Given the description of an element on the screen output the (x, y) to click on. 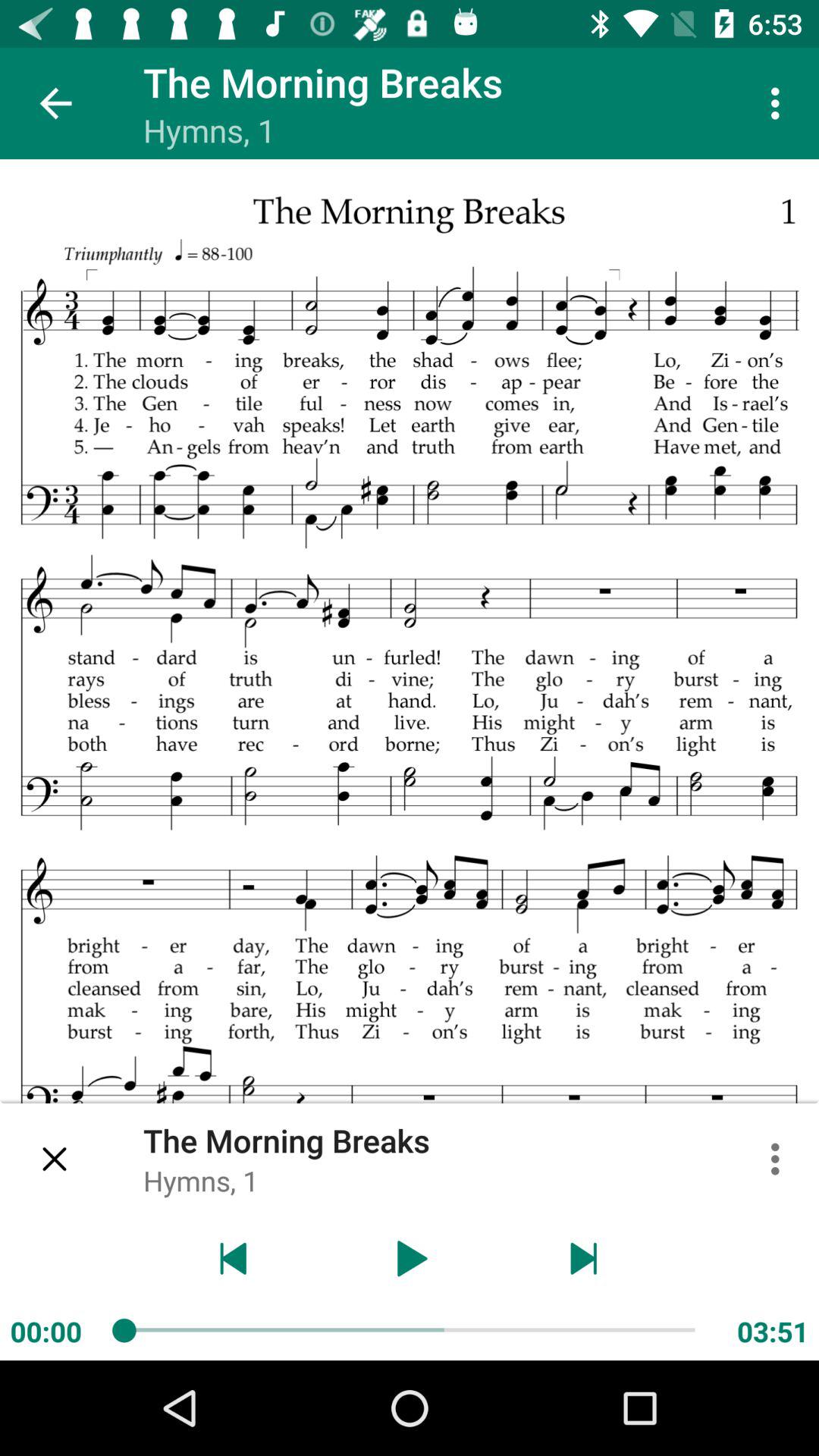
repeat this track (234, 1258)
